Given the description of an element on the screen output the (x, y) to click on. 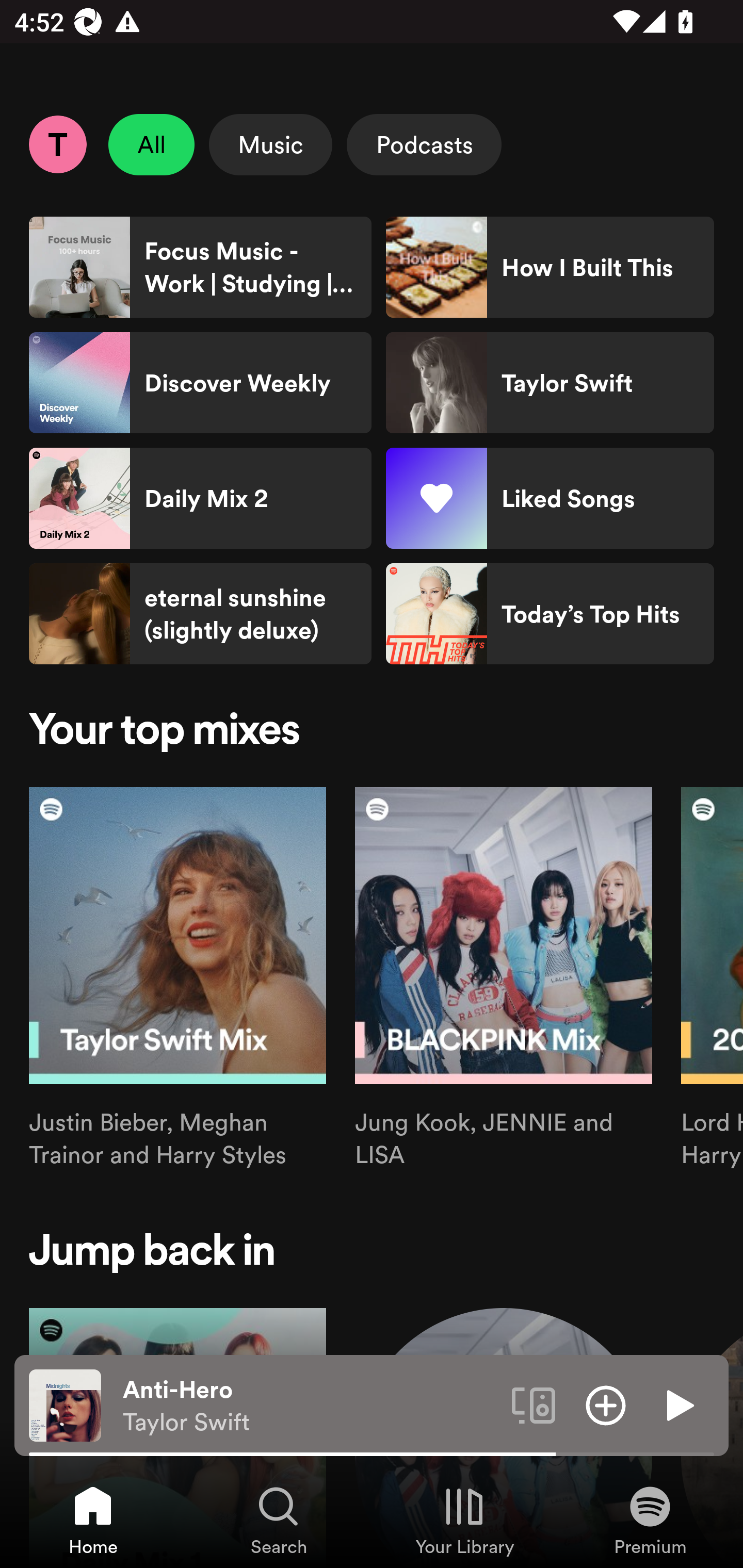
Profile (57, 144)
All Unselect All (151, 144)
Music Select Music (270, 144)
Podcasts Select Podcasts (423, 144)
How I Built This  Shortcut How I Built This  (549, 267)
Discover Weekly Shortcut Discover Weekly (199, 382)
Taylor Swift Shortcut Taylor Swift (549, 382)
Daily Mix 2 Shortcut Daily Mix 2 (199, 498)
Liked Songs Shortcut Liked Songs (549, 498)
Today’s Top Hits Shortcut Today’s Top Hits (549, 613)
Anti-Hero Taylor Swift (309, 1405)
The cover art of the currently playing track (64, 1404)
Connect to a device. Opens the devices menu (533, 1404)
Add item (605, 1404)
Play (677, 1404)
Home, Tab 1 of 4 Home Home (92, 1519)
Search, Tab 2 of 4 Search Search (278, 1519)
Your Library, Tab 3 of 4 Your Library Your Library (464, 1519)
Premium, Tab 4 of 4 Premium Premium (650, 1519)
